Given the description of an element on the screen output the (x, y) to click on. 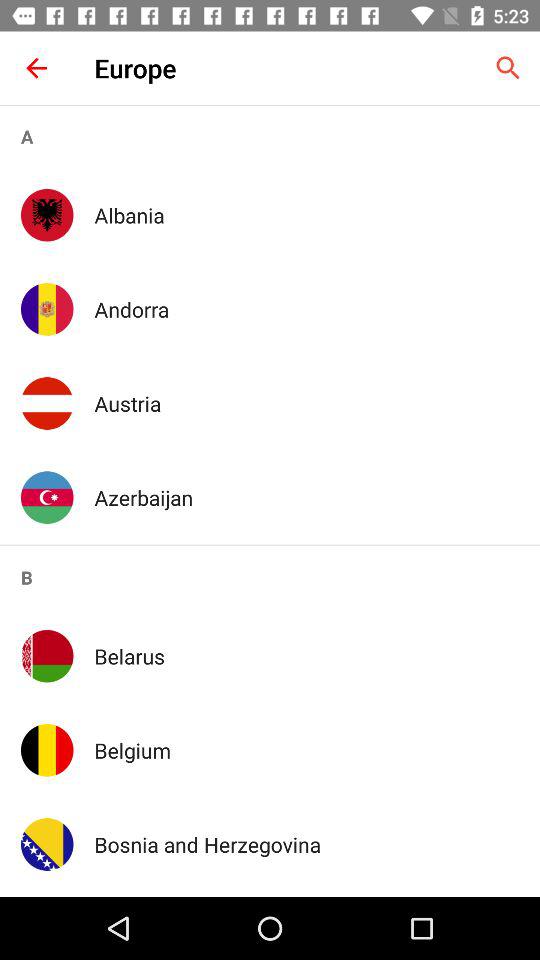
choose the icon above the austria icon (306, 309)
